Given the description of an element on the screen output the (x, y) to click on. 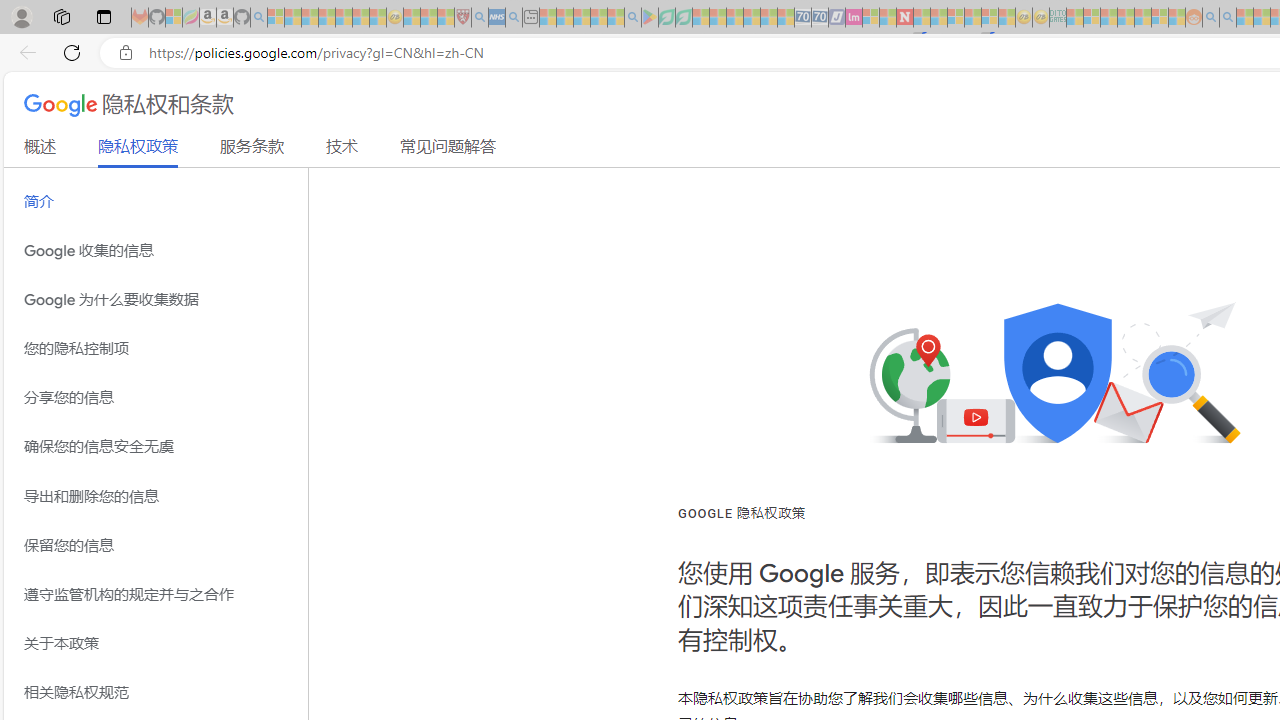
New Report Confirms 2023 Was Record Hot | Watch - Sleeping (343, 17)
